Given the description of an element on the screen output the (x, y) to click on. 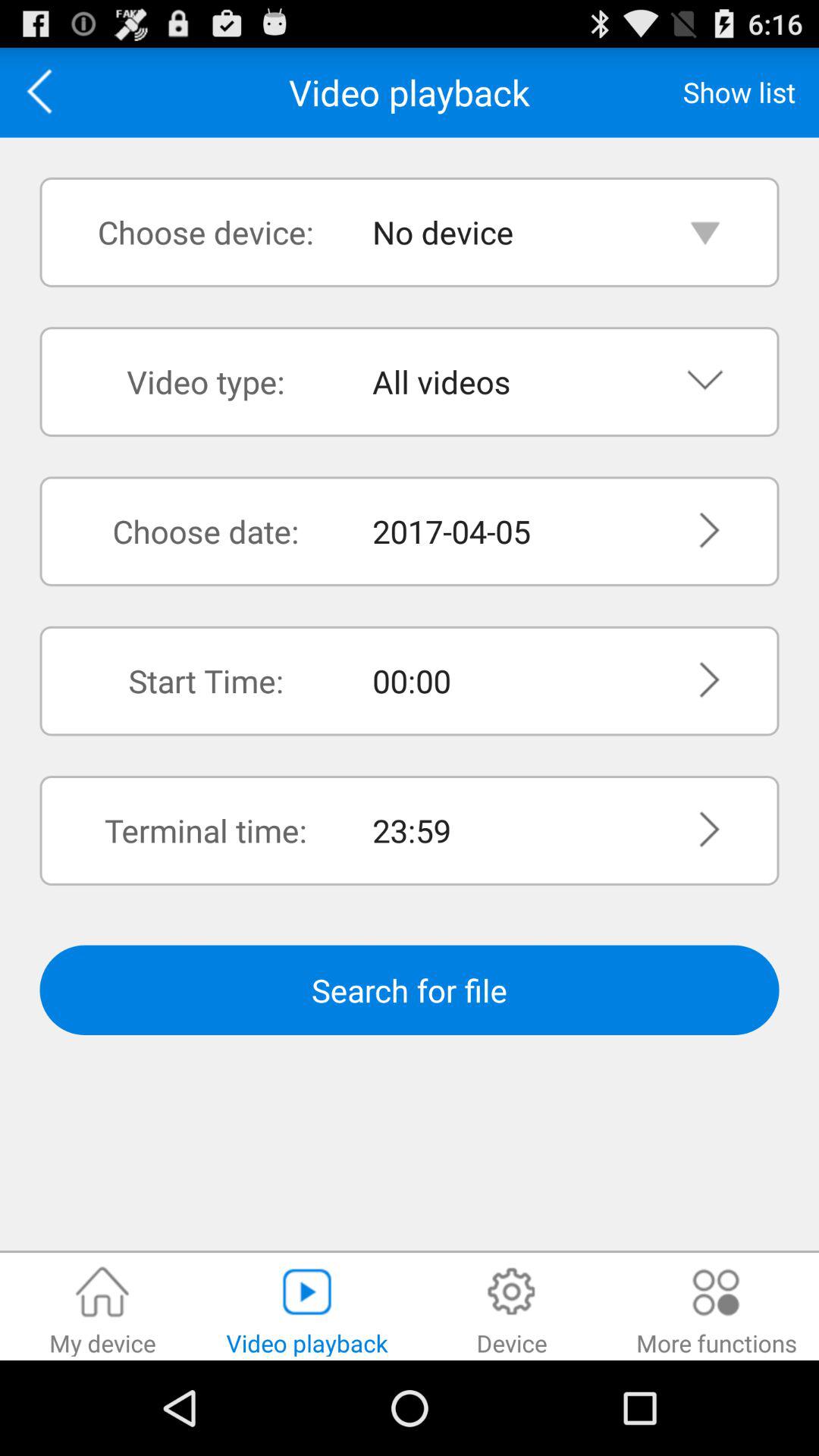
tap the item next to video playback icon (739, 92)
